Given the description of an element on the screen output the (x, y) to click on. 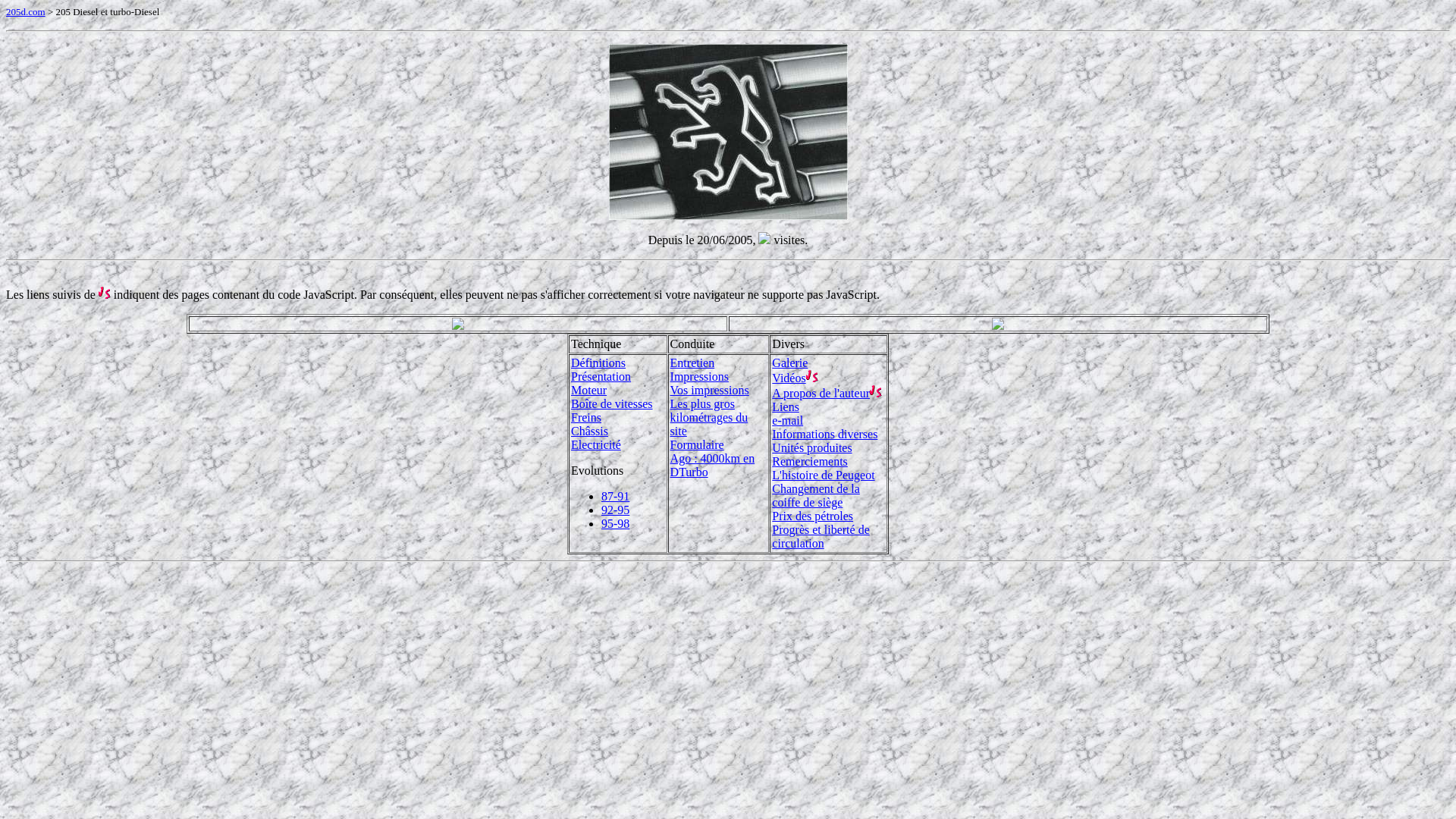
Moteur Element type: text (588, 389)
Vos impressions Element type: text (709, 389)
92-95 Element type: text (615, 509)
87-91 Element type: text (615, 495)
95-98 Element type: text (615, 523)
Formulaire Element type: text (697, 444)
e-mail Element type: text (787, 420)
Galerie Element type: text (789, 362)
Ago : 4000km en DTurbo Element type: text (712, 464)
Remerciements Element type: text (809, 461)
Liens Element type: text (785, 406)
A propos de l'auteur Element type: text (820, 392)
Freins Element type: text (586, 417)
Impressions Element type: text (699, 376)
Entretien Element type: text (692, 362)
Informations diverses Element type: text (824, 433)
L'histoire de Peugeot Element type: text (822, 474)
205d.com Element type: text (25, 10)
